Given the description of an element on the screen output the (x, y) to click on. 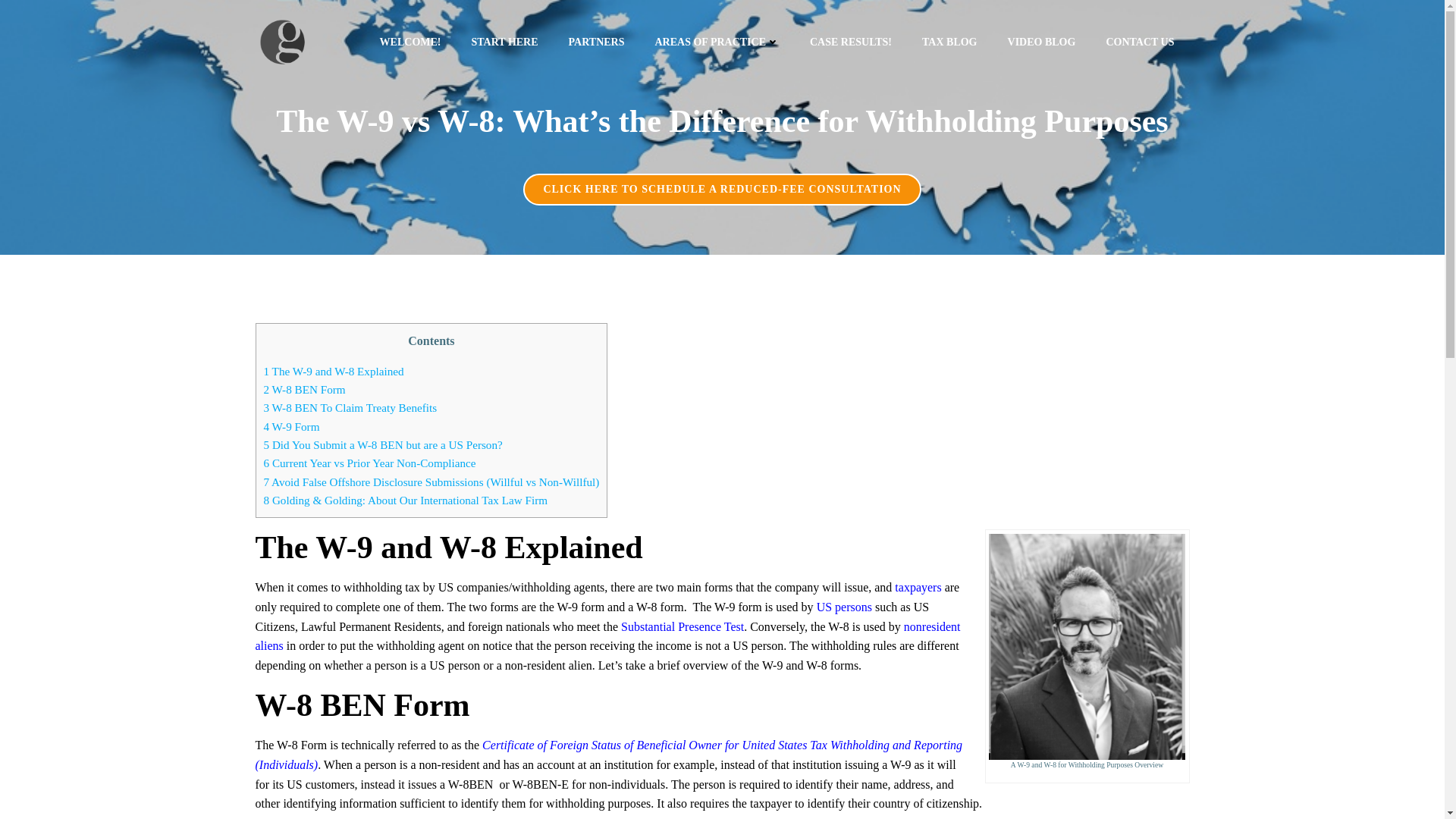
VIDEO BLOG (1041, 41)
PARTNERS (596, 41)
TAX BLOG (948, 41)
WELCOME! (410, 41)
AREAS OF PRACTICE (717, 41)
CONTACT US (1139, 41)
START HERE (503, 41)
CASE RESULTS! (850, 41)
